Given the description of an element on the screen output the (x, y) to click on. 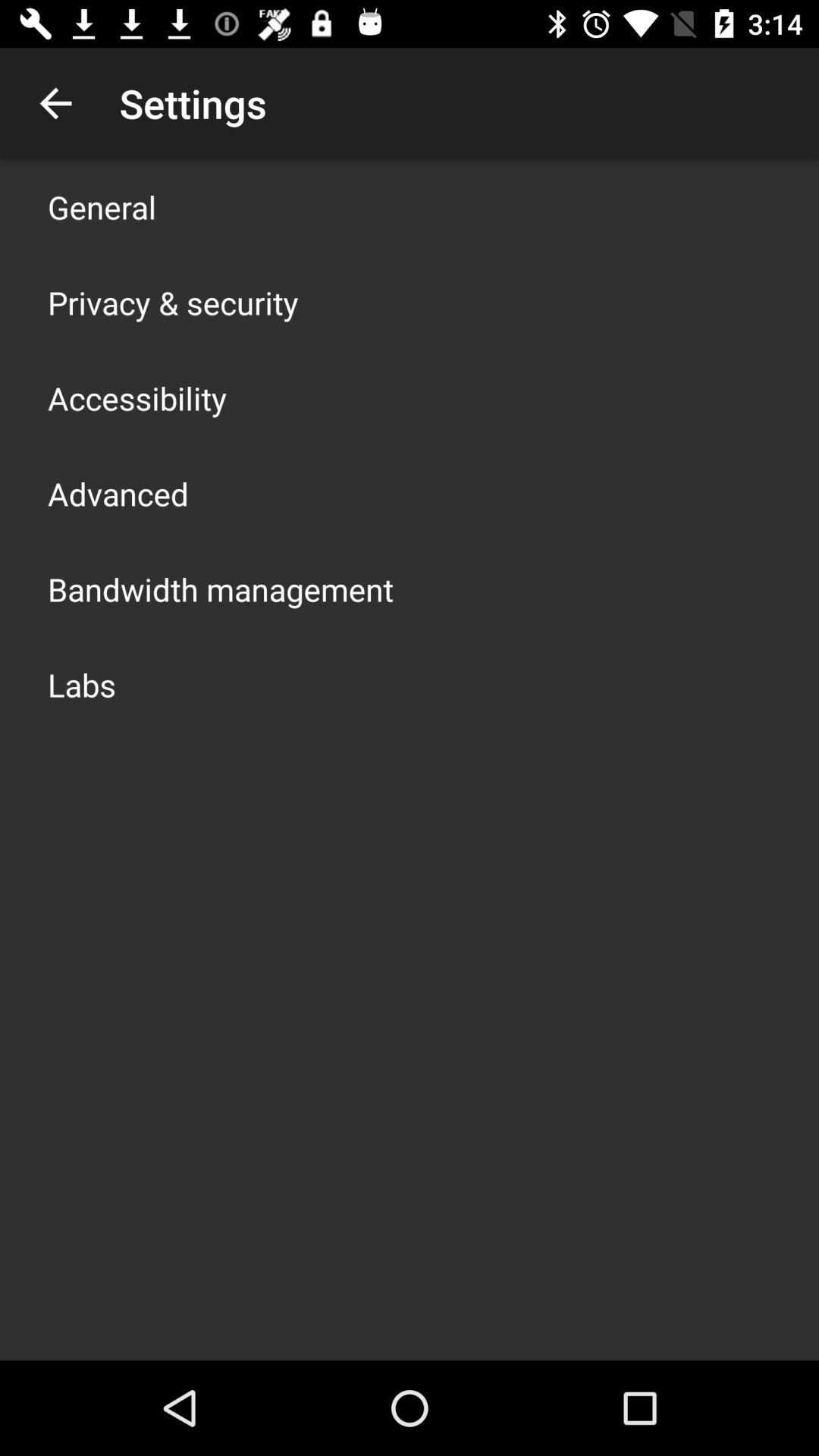
click app below privacy & security icon (136, 397)
